Given the description of an element on the screen output the (x, y) to click on. 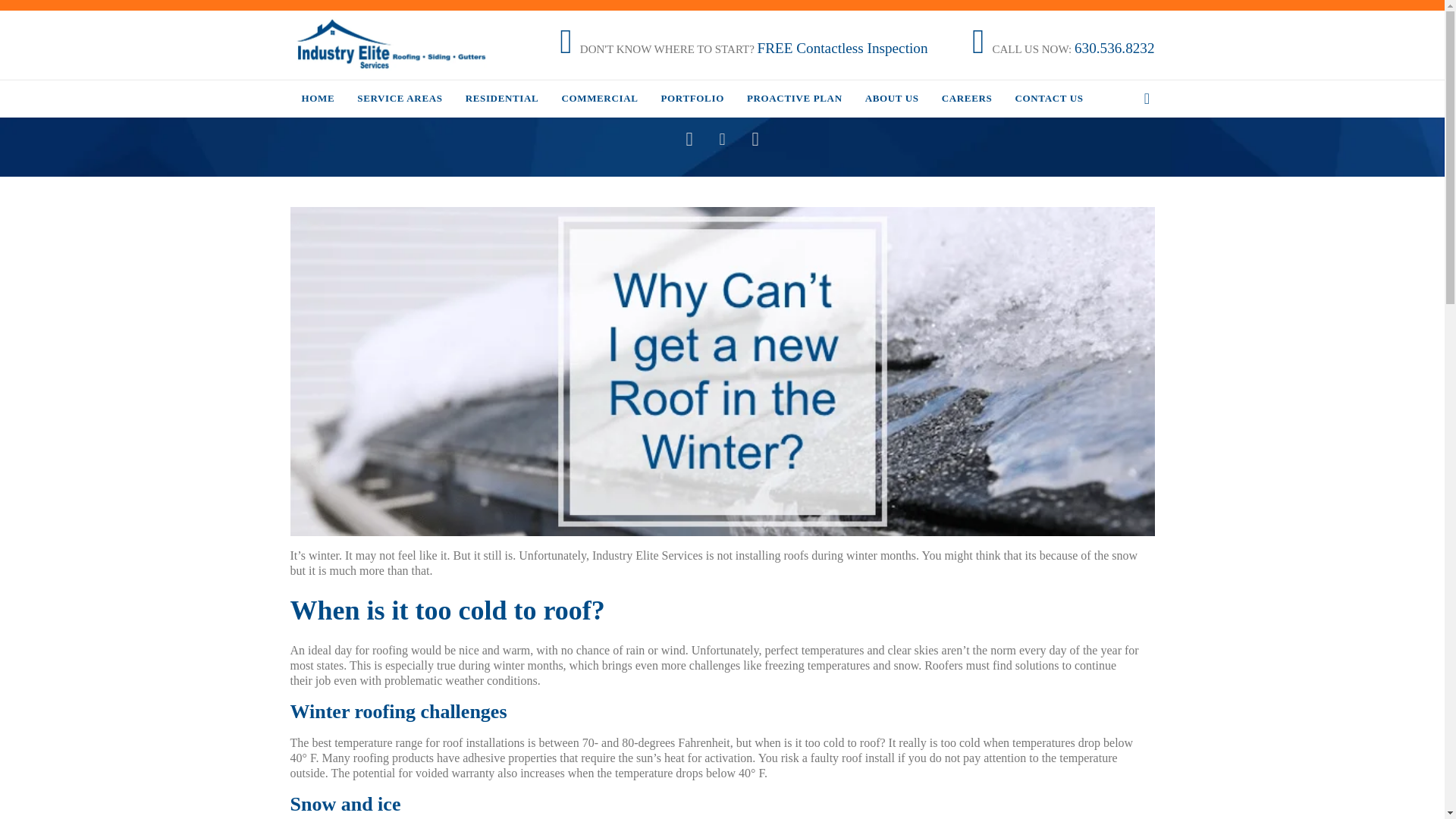
630.536.8232 (1114, 48)
SERVICE AREAS (399, 99)
HOME (317, 99)
FREE Contactless Inspection (842, 48)
ABOUT US (891, 99)
COMMERCIAL (598, 99)
PROACTIVE PLAN (794, 99)
RESIDENTIAL (501, 99)
PORTFOLIO (692, 99)
